Given the description of an element on the screen output the (x, y) to click on. 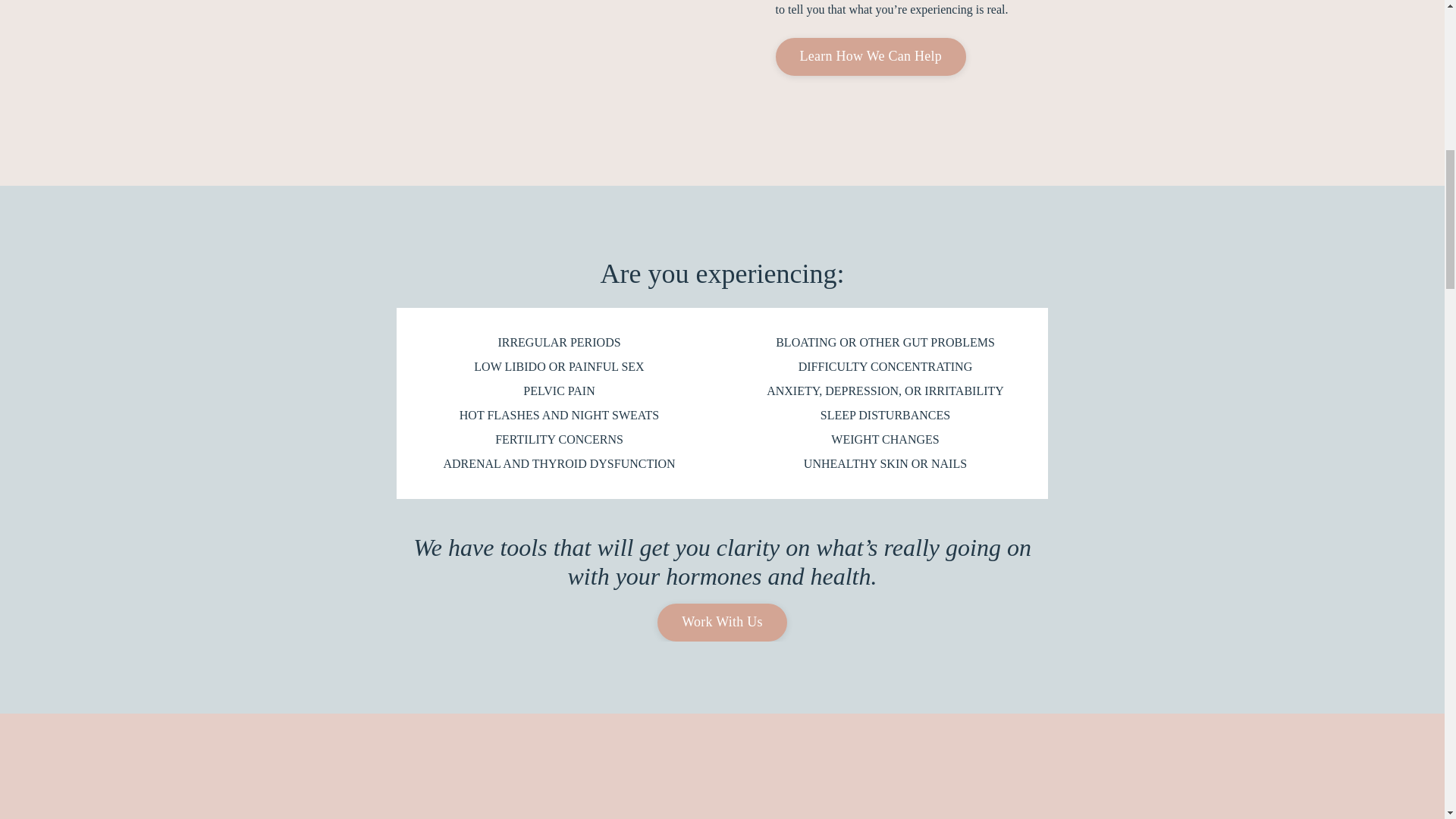
Learn How We Can Help (869, 56)
Work With Us (722, 622)
